Given the description of an element on the screen output the (x, y) to click on. 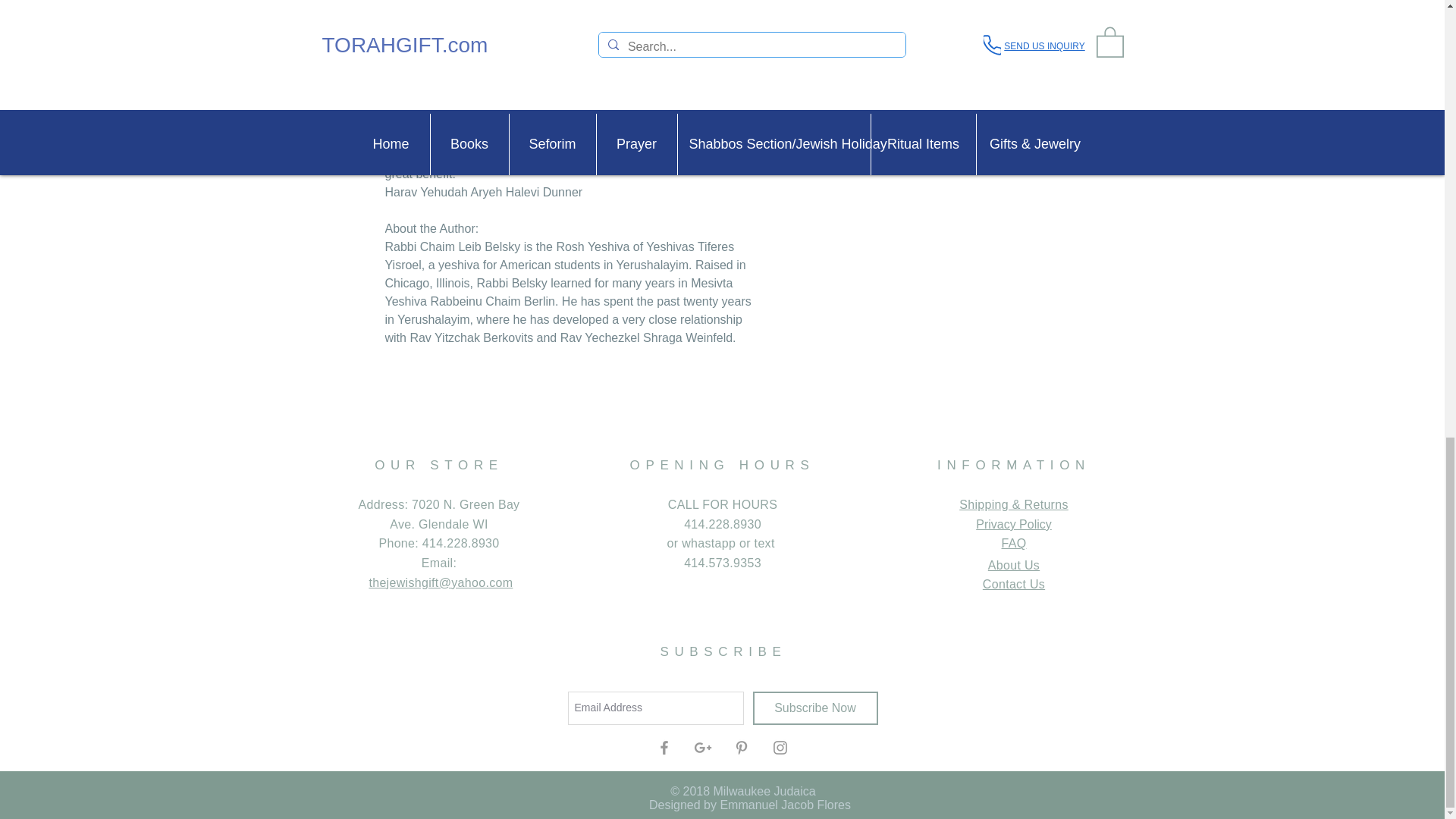
CALL FOR HOURS (722, 504)
Subscribe Now (814, 707)
FAQ (1013, 543)
Contact Us (1013, 584)
About Us (1013, 564)
Privacy Policy (1013, 523)
